Given the description of an element on the screen output the (x, y) to click on. 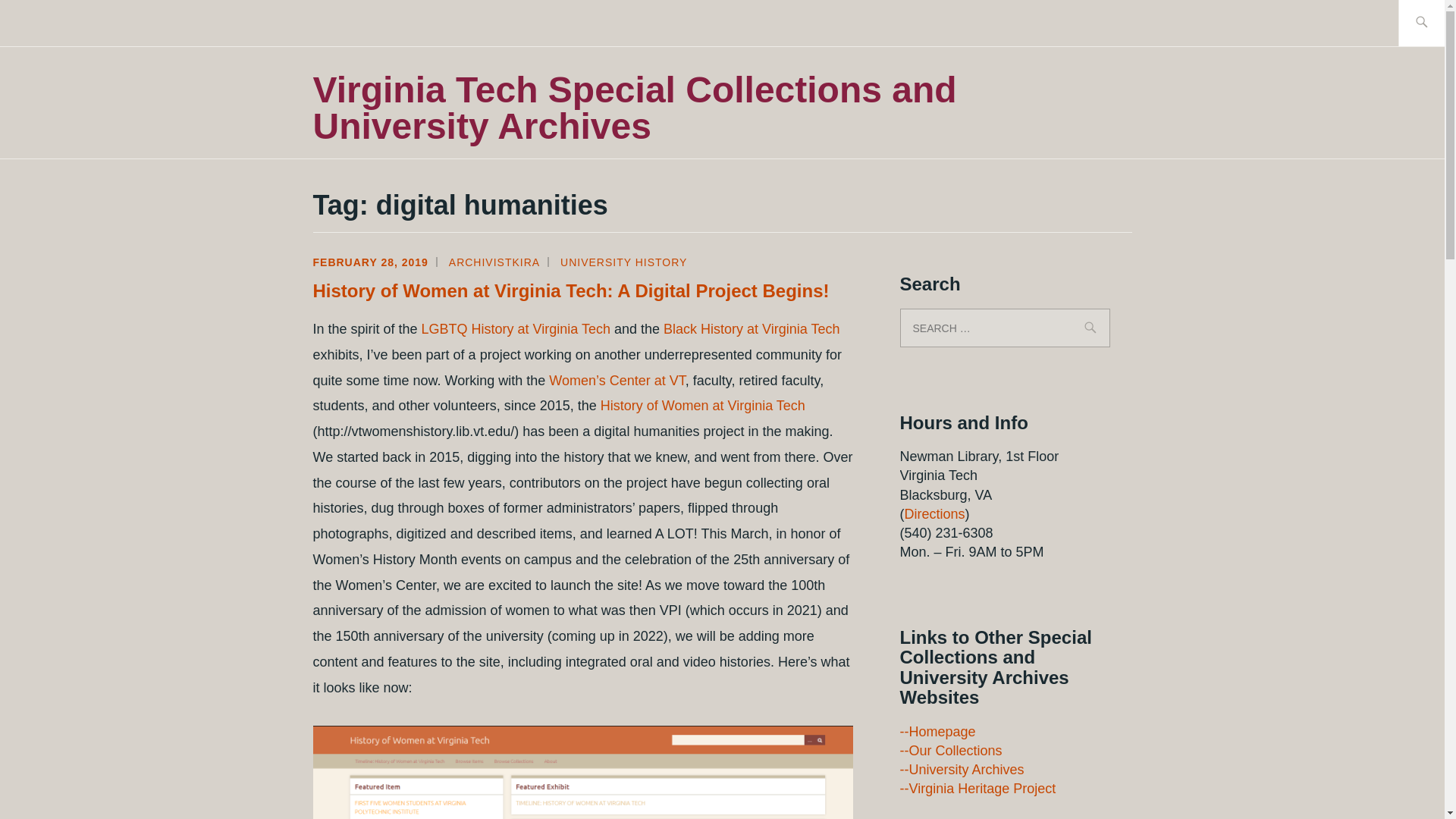
FEBRUARY 28, 2019 (370, 262)
History of Women at Virginia Tech: A Digital Project Begins! (570, 290)
--University Archives (961, 769)
Search for: (1004, 327)
--Virginia Heritage Project (977, 788)
History of Women at Virginia Tech (702, 405)
Virginia Tech Special Collections and University Archives (634, 107)
ARCHIVISTKIRA (494, 262)
--Our Collections (950, 750)
--Homepage (937, 731)
Directions (933, 513)
Search (47, 22)
Black History at Virginia Tech (751, 328)
UNIVERSITY HISTORY (623, 262)
LGBTQ History at Virginia Tech (516, 328)
